Given the description of an element on the screen output the (x, y) to click on. 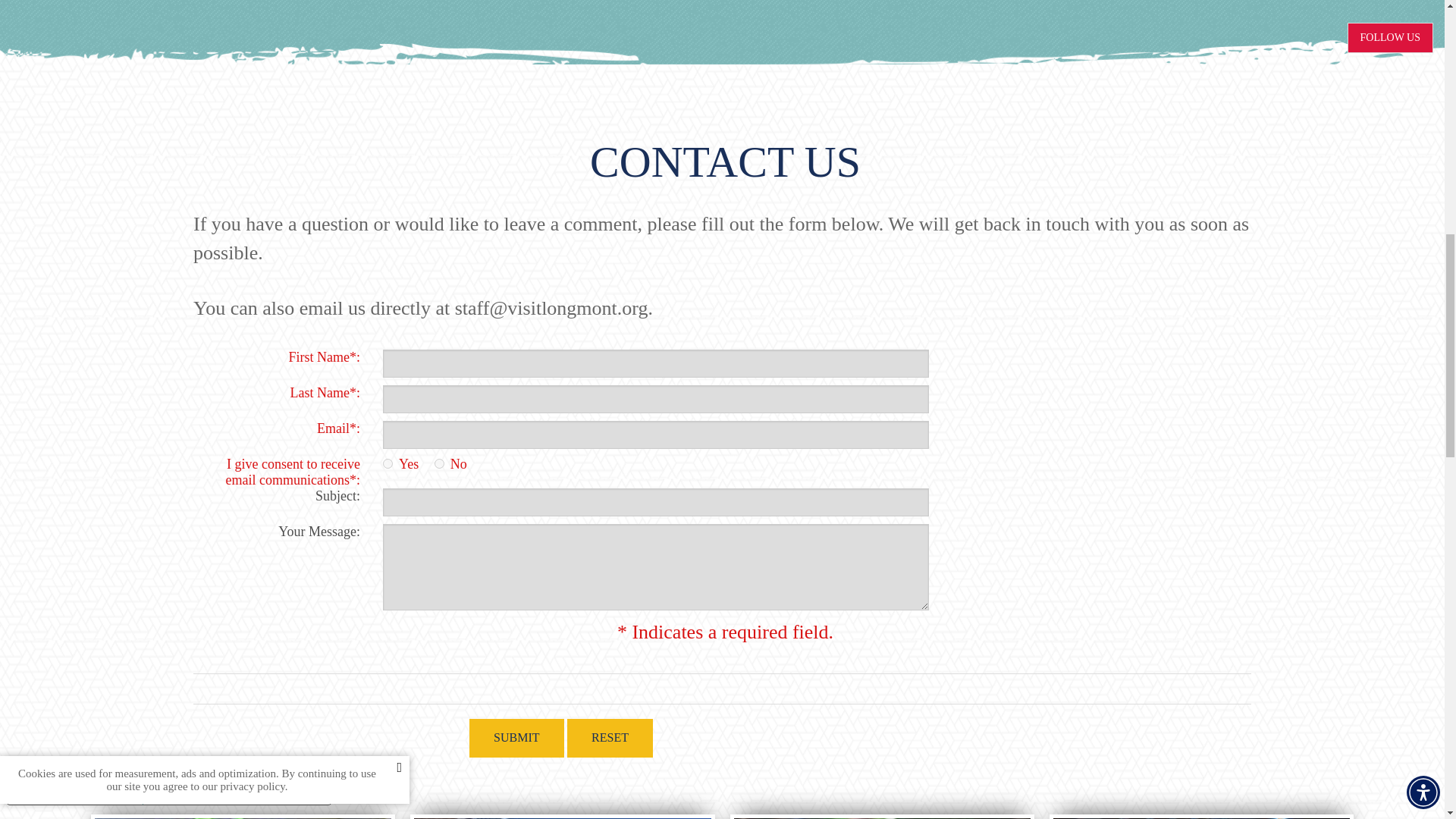
Reset (609, 738)
0 (438, 463)
Submit (515, 738)
1 (387, 463)
